Given the description of an element on the screen output the (x, y) to click on. 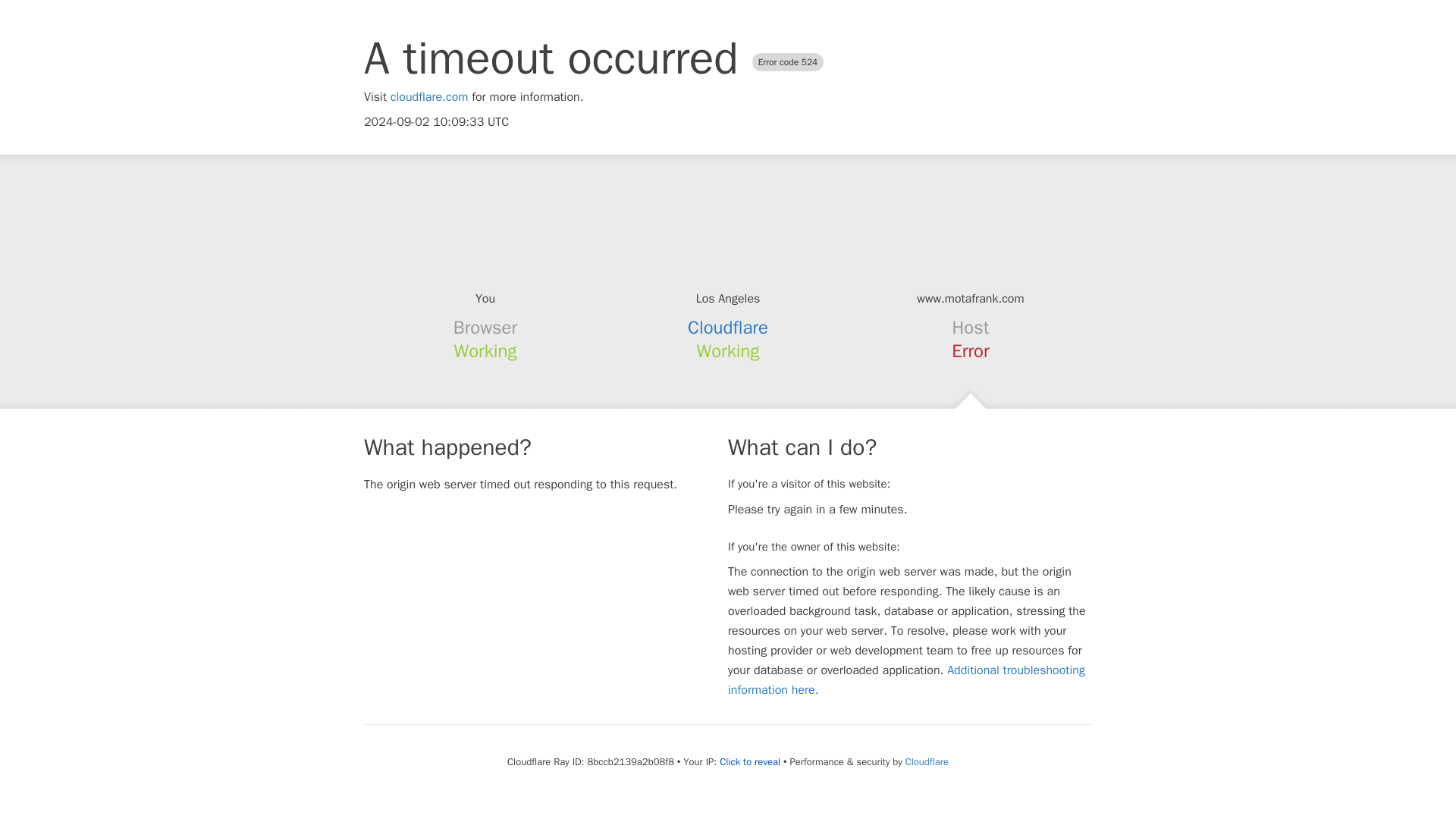
Click to reveal (749, 762)
cloudflare.com (429, 96)
Cloudflare (927, 761)
Cloudflare (727, 327)
Additional troubleshooting information here. (906, 679)
